Given the description of an element on the screen output the (x, y) to click on. 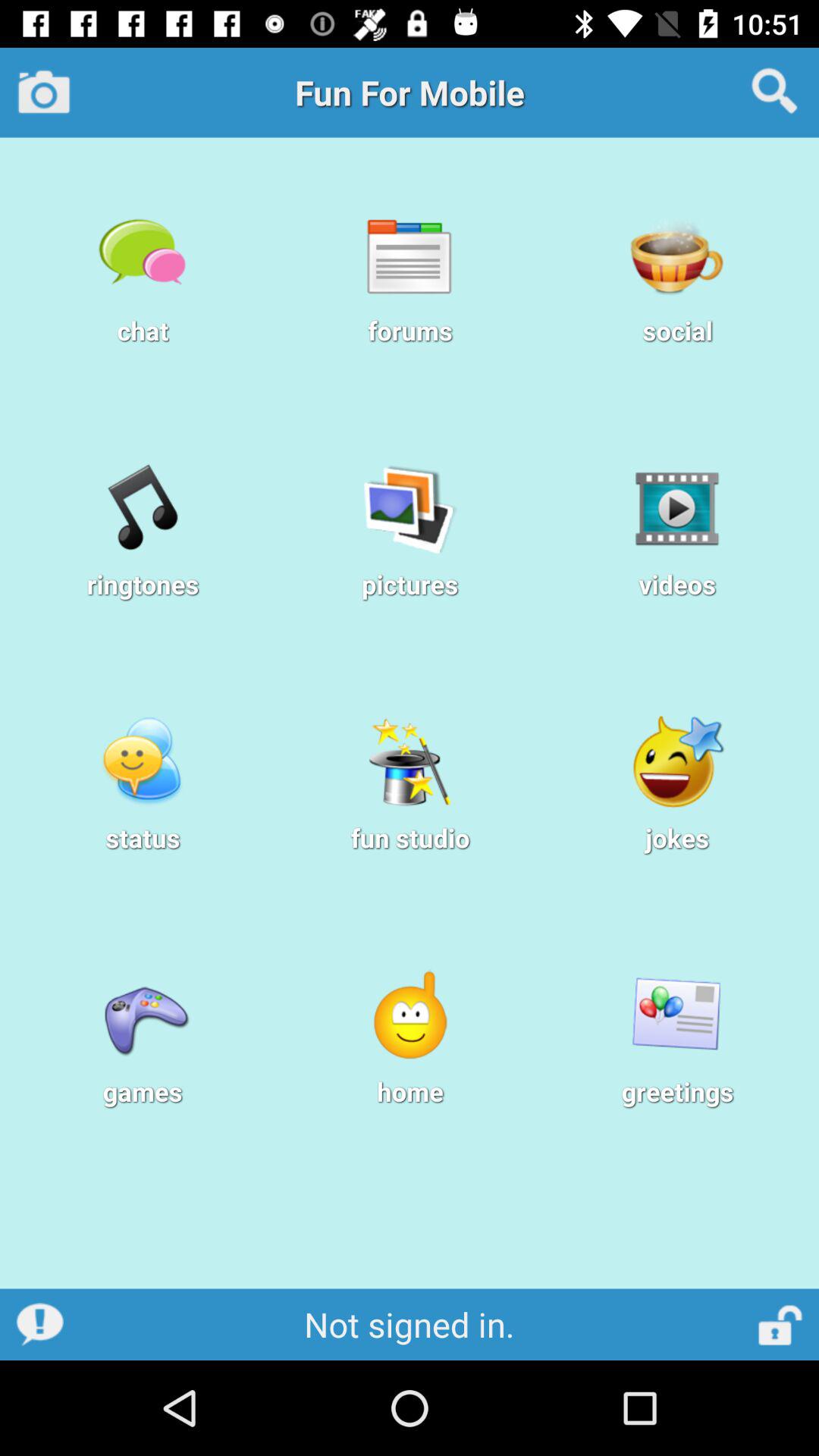
tap app above chat icon (43, 91)
